Given the description of an element on the screen output the (x, y) to click on. 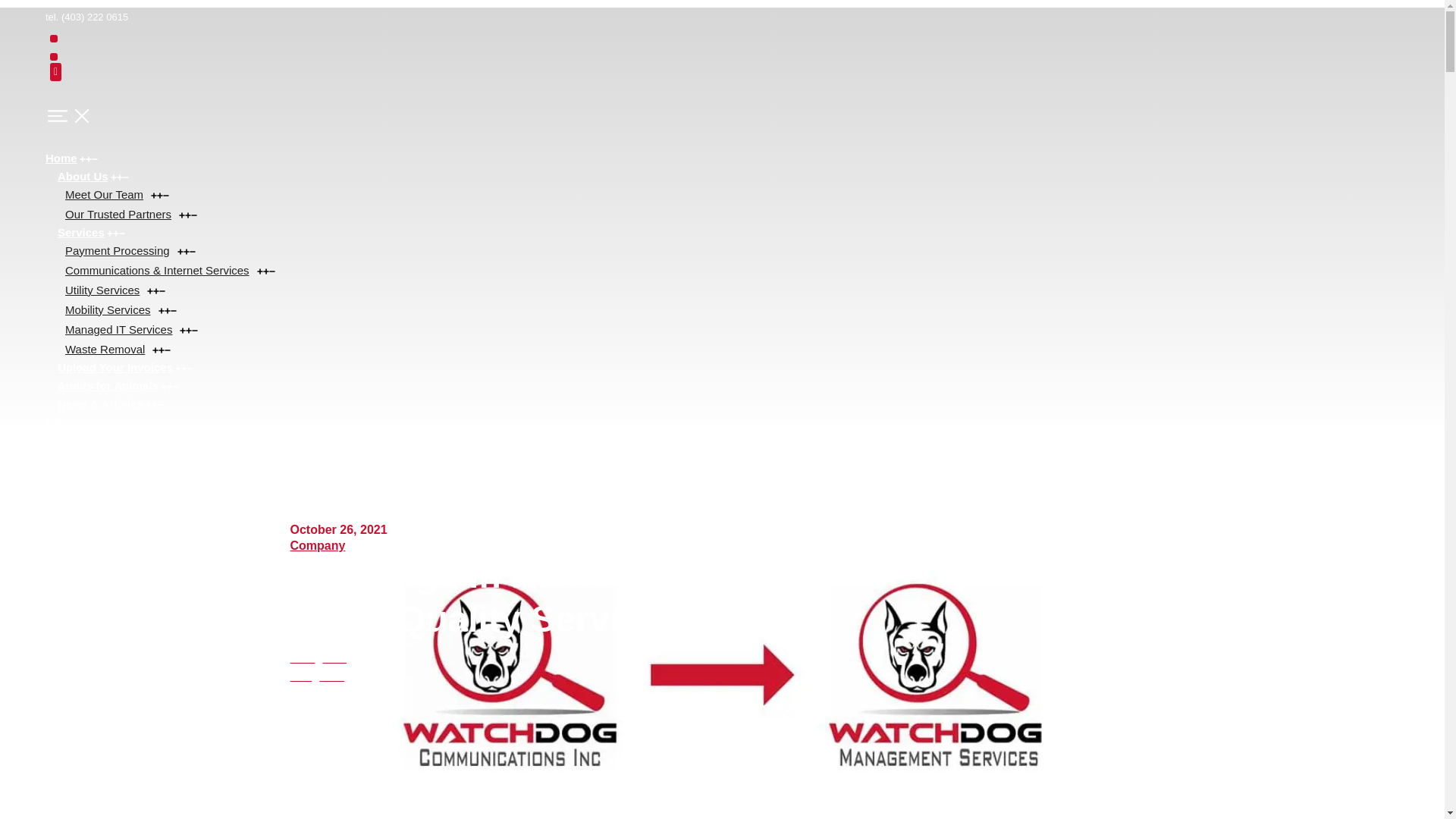
Utility Services (115, 289)
Our Trusted Partners (131, 213)
Mobility Services (121, 309)
Managed IT Services (131, 329)
Payment Processing (130, 250)
Meet Our Team (117, 194)
Home (71, 157)
Upload Your Invoices (125, 367)
Contact (76, 421)
PrevPrev. (317, 657)
